Given the description of an element on the screen output the (x, y) to click on. 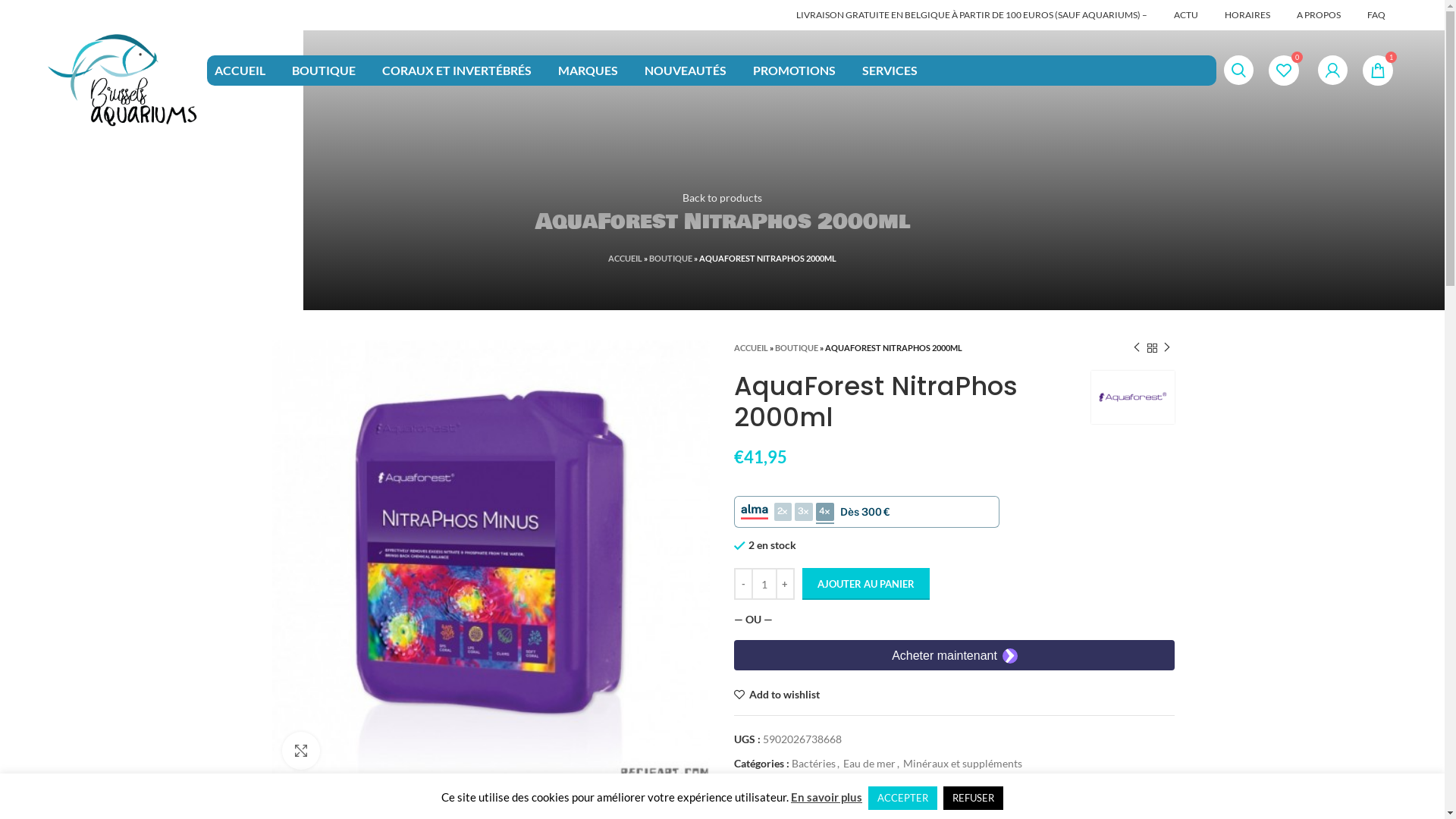
MARQUES Element type: text (587, 69)
REFUSER Element type: text (973, 797)
En savoir plus Element type: text (826, 796)
0 Element type: text (1283, 69)
VOIR LE PANIER Element type: text (93, 795)
BOUTIQUE Element type: text (323, 69)
ACCUEIL Element type: text (625, 258)
Add to wishlist Element type: text (776, 694)
AJOUTER AU PANIER Element type: text (865, 583)
ACCUEIL Element type: text (751, 347)
BOUTIQUE Element type: text (670, 258)
My account Element type: hover (1332, 69)
nitraphos-minus-2000ml Element type: hover (490, 559)
PROMOTIONS Element type: text (794, 69)
SERVICES Element type: text (889, 69)
Back to products Element type: text (722, 197)
HORAIRES Element type: text (1247, 15)
Eau de mer Element type: text (869, 762)
A PROPOS Element type: text (1318, 15)
ACCEPTER Element type: text (902, 797)
Search Element type: hover (1238, 69)
1 Element type: text (1377, 69)
ACCUEIL Element type: text (240, 69)
FAQ Element type: text (1376, 15)
ACTU Element type: text (1185, 15)
BOUTIQUE Element type: text (796, 347)
AquaForest Element type: hover (1132, 396)
